Given the description of an element on the screen output the (x, y) to click on. 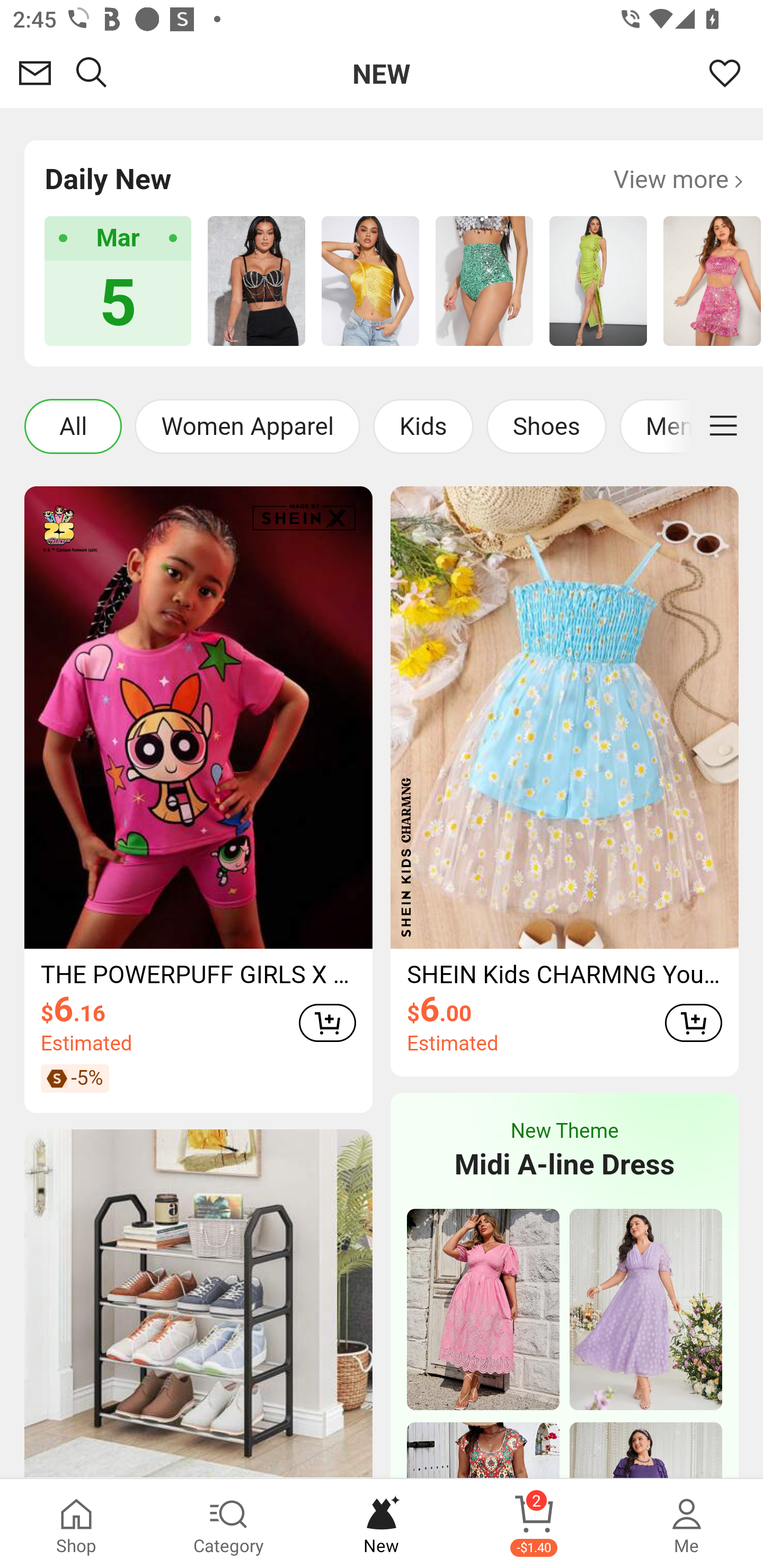
Search (92, 72)
Wishlist (724, 72)
View more  (677, 179)
Mar5 (118, 280)
All (72, 426)
Women Apparel (246, 426)
Kids (422, 426)
Shoes (545, 426)
Men Apparel (690, 426)
 (723, 426)
New Theme Midi A-line Dress (564, 1149)
Shop (76, 1523)
Category (228, 1523)
Cart 2 -$1.40 (533, 1523)
Me (686, 1523)
